Given the description of an element on the screen output the (x, y) to click on. 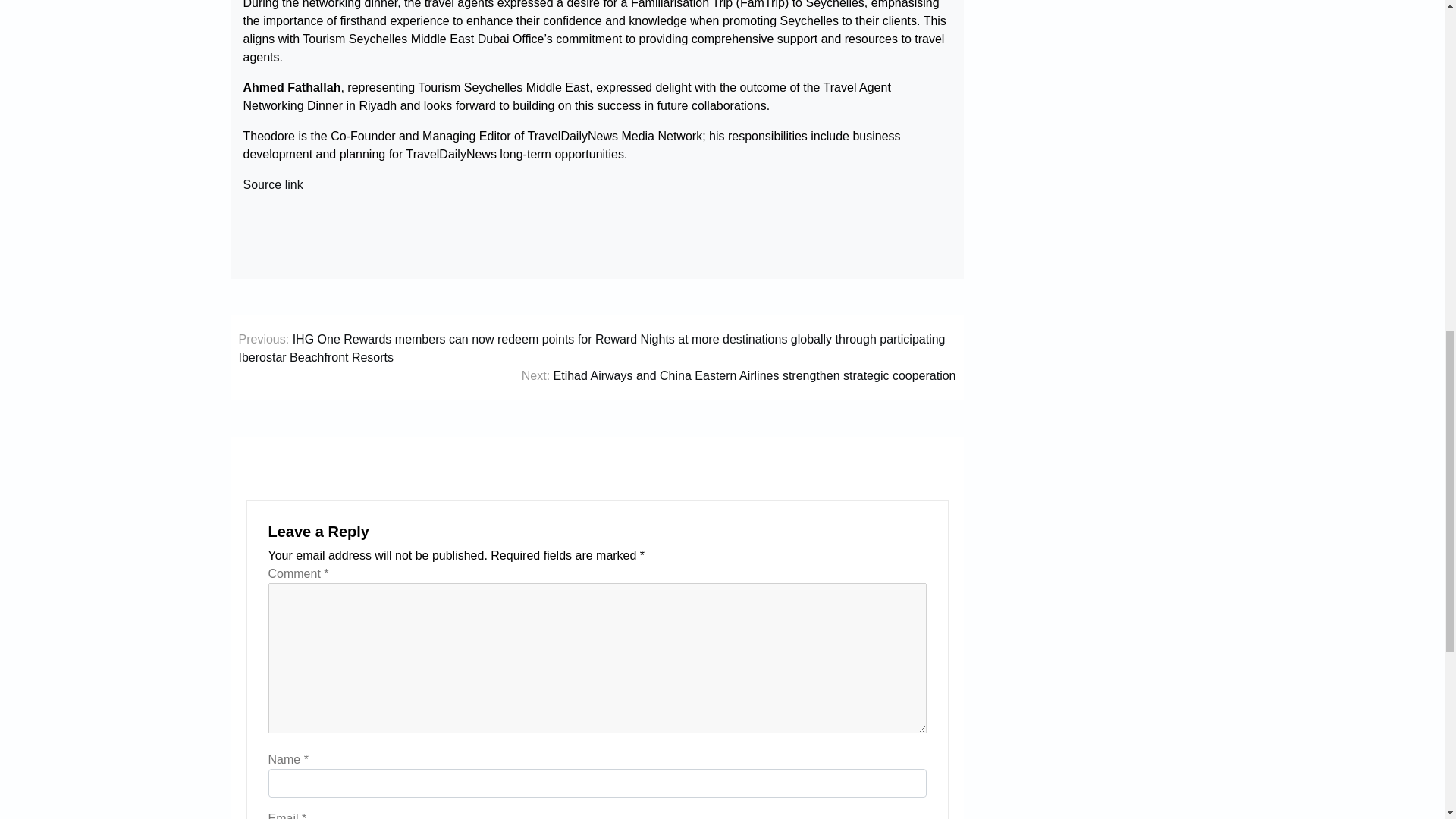
Source link (272, 185)
